Given the description of an element on the screen output the (x, y) to click on. 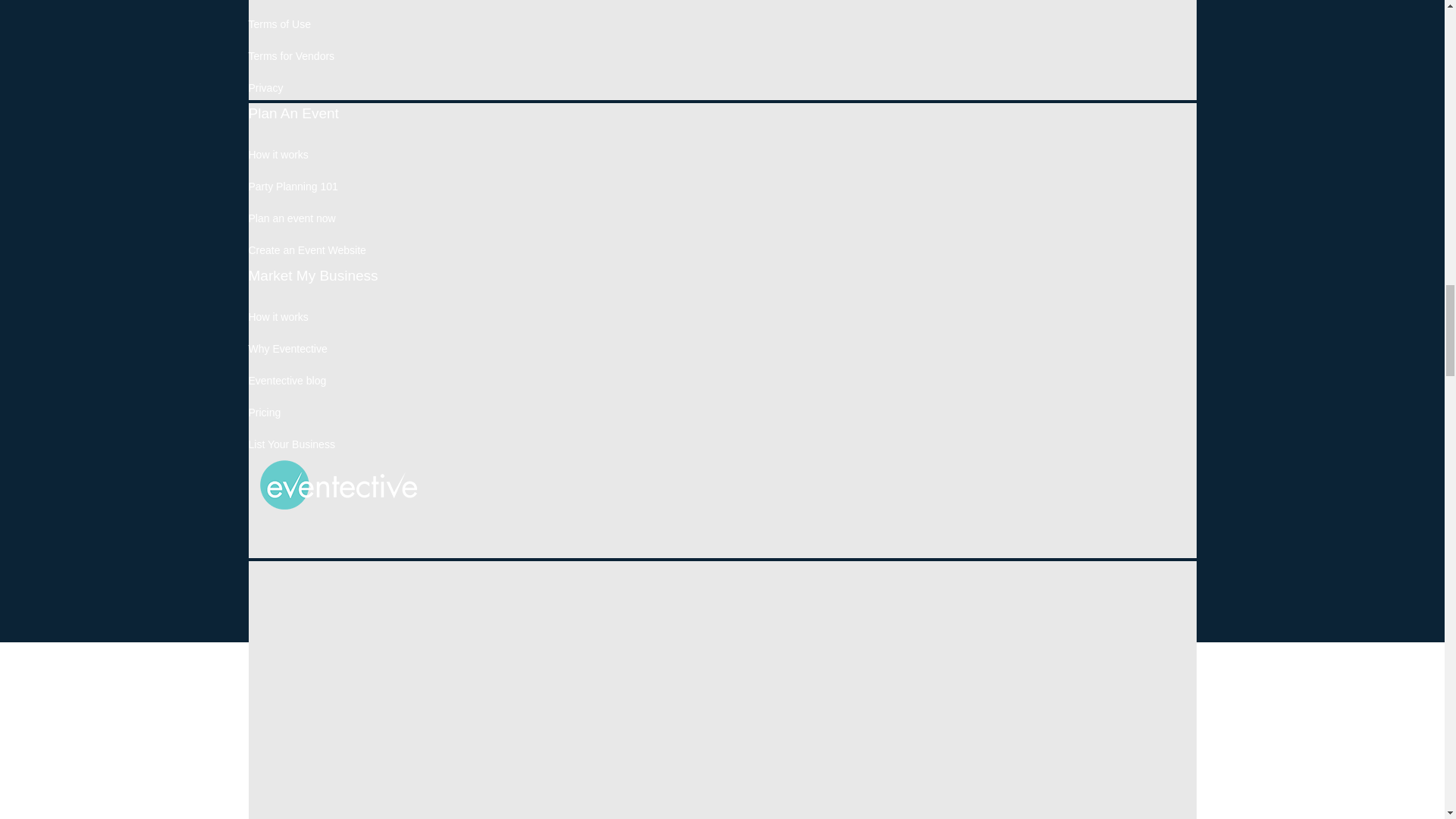
Privacy (265, 87)
Terms for Vendors (291, 55)
Terms of Use (279, 24)
